Given the description of an element on the screen output the (x, y) to click on. 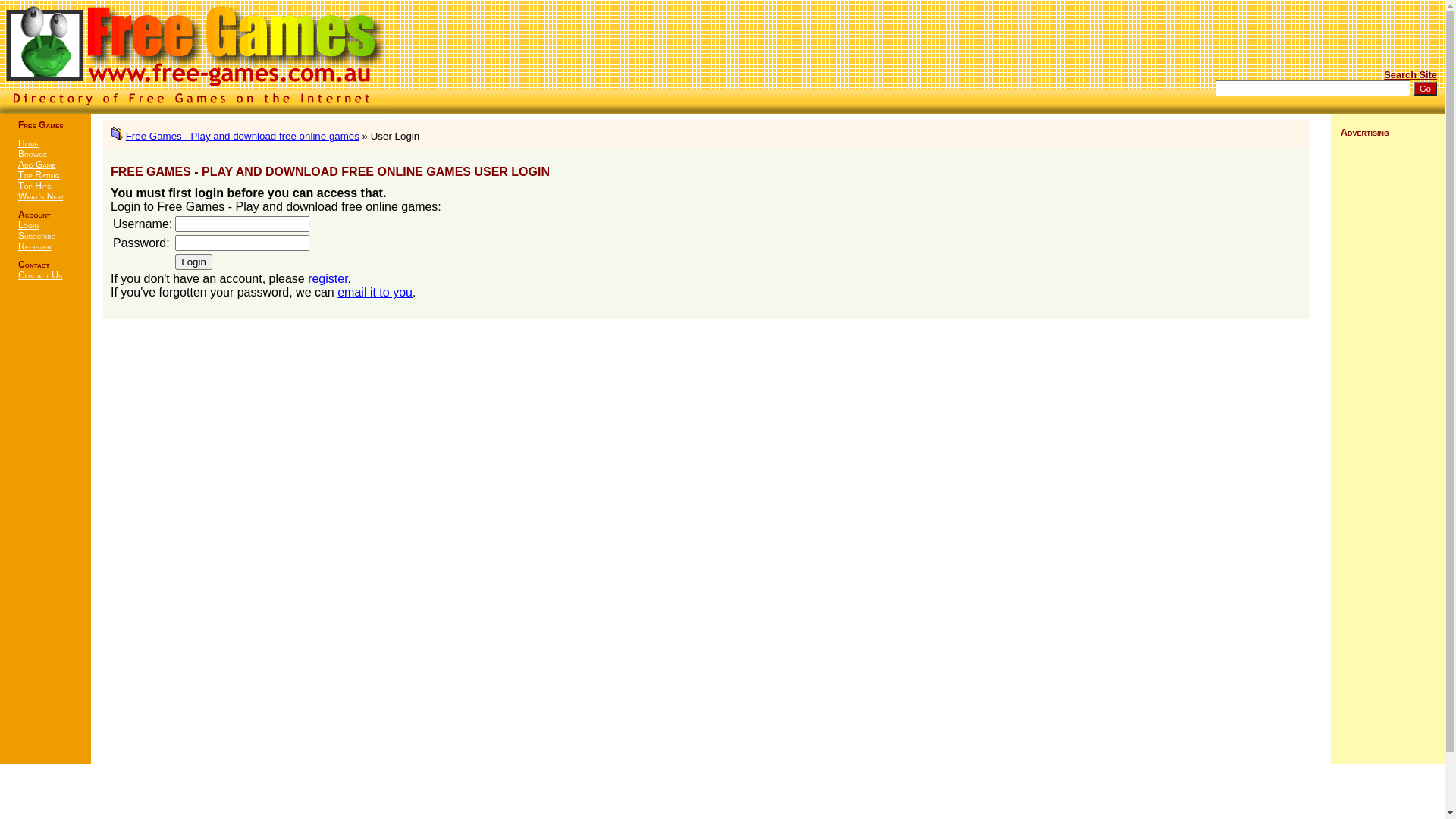
register Element type: text (327, 278)
email it to you Element type: text (374, 291)
What'S New Element type: text (40, 196)
Go Element type: text (1425, 88)
Contact Us Element type: text (40, 274)
Top Rating Element type: text (38, 174)
Home Element type: text (28, 143)
Add Game Element type: text (37, 164)
Browse Element type: text (32, 153)
Advertisement Element type: hover (1387, 373)
Register Element type: text (34, 246)
Login Element type: text (28, 224)
Advertisement Element type: hover (45, 530)
Login Element type: text (193, 261)
Free Games - Play and download free online games Element type: text (242, 135)
Top Hits Element type: text (34, 185)
Search Site Element type: text (1410, 74)
Advertisement Element type: hover (1322, 47)
Subscribe Element type: text (36, 235)
